Given the description of an element on the screen output the (x, y) to click on. 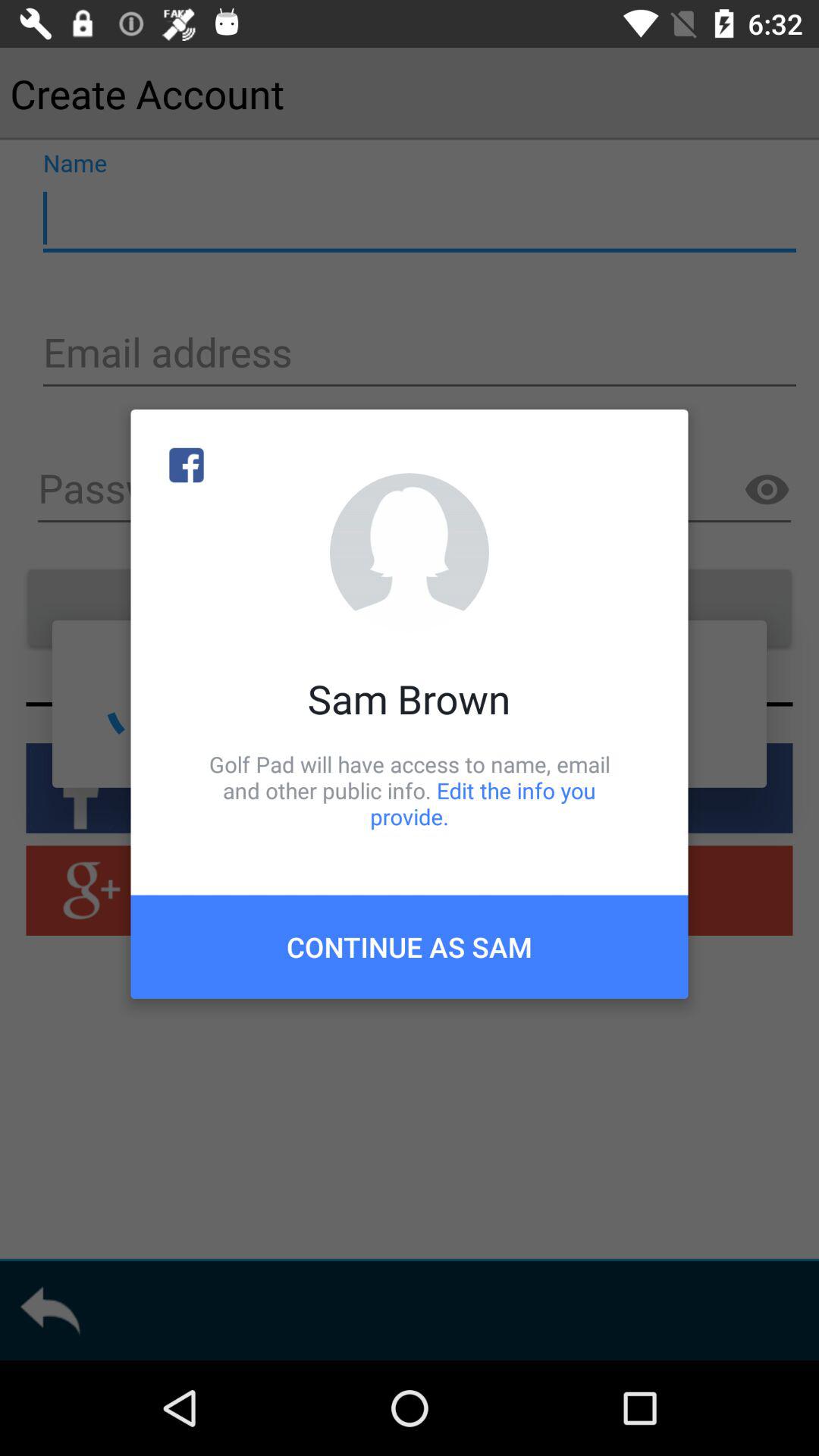
click the item above the continue as sam (409, 790)
